Given the description of an element on the screen output the (x, y) to click on. 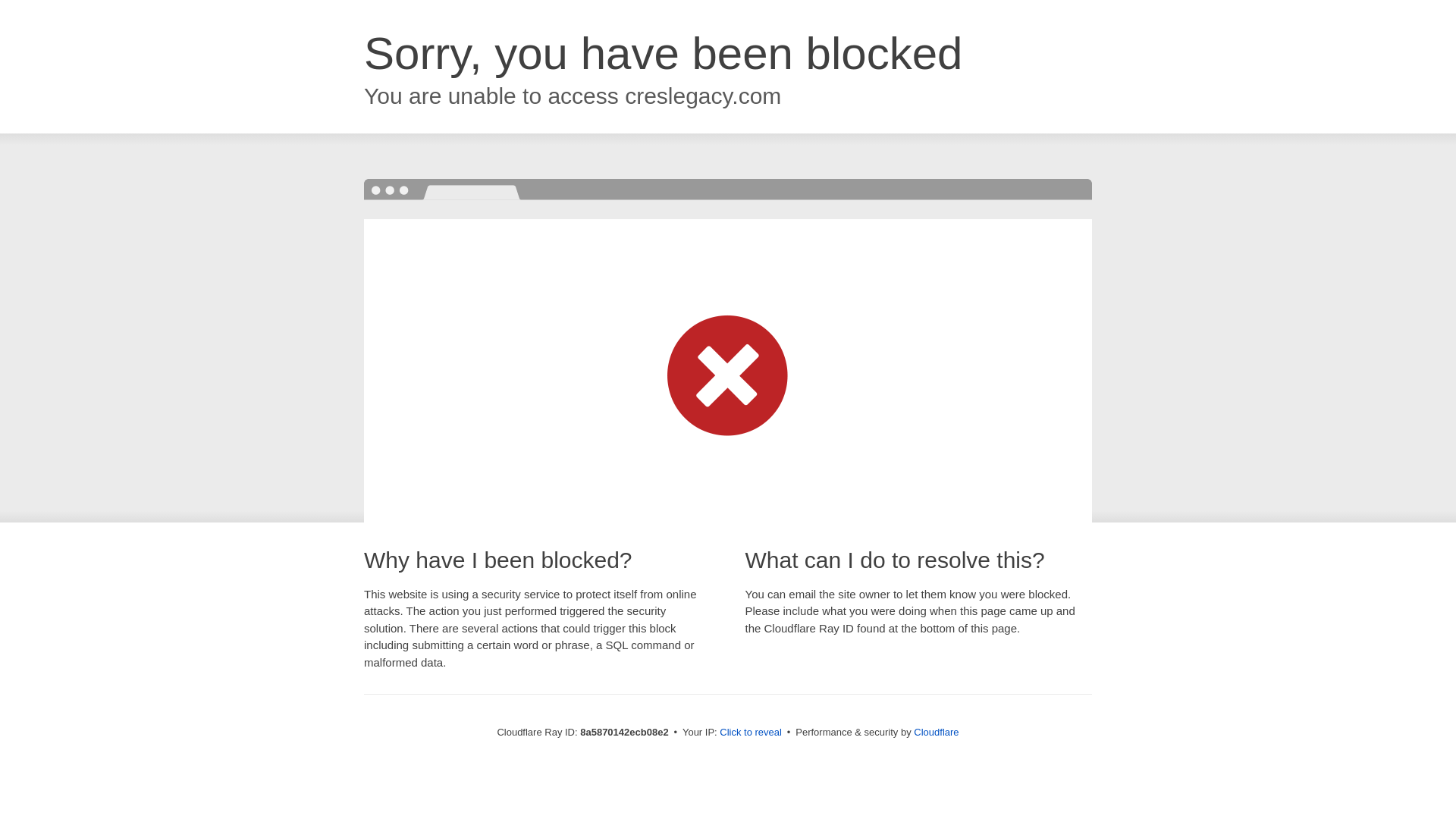
Cloudflare (936, 731)
Click to reveal (750, 732)
